Given the description of an element on the screen output the (x, y) to click on. 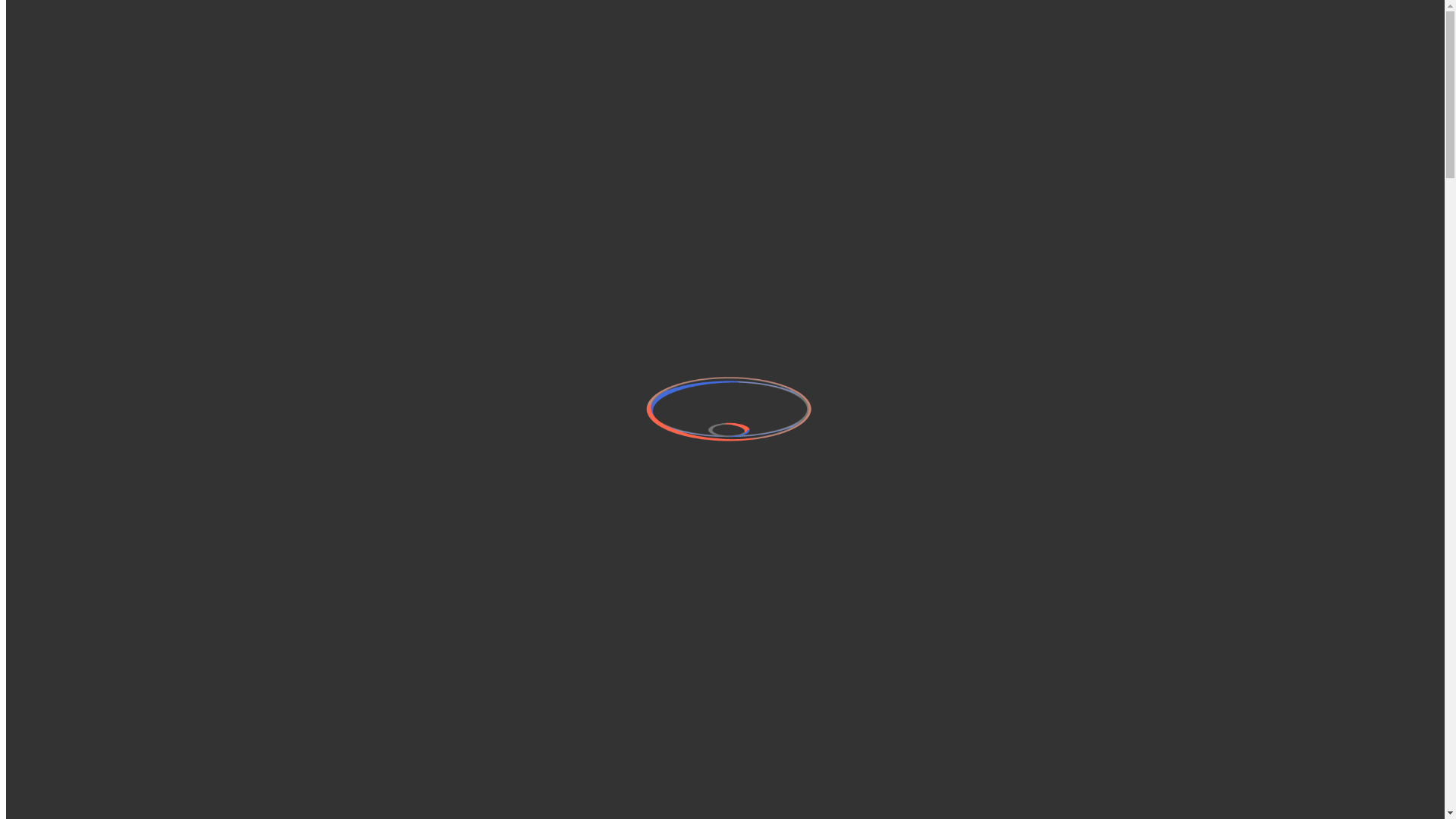
Sign in Element type: text (83, 66)
Skip to main content Element type: text (6, 15)
CERN Accelerating science Element type: text (147, 29)
Directory Element type: text (59, 80)
